Given the description of an element on the screen output the (x, y) to click on. 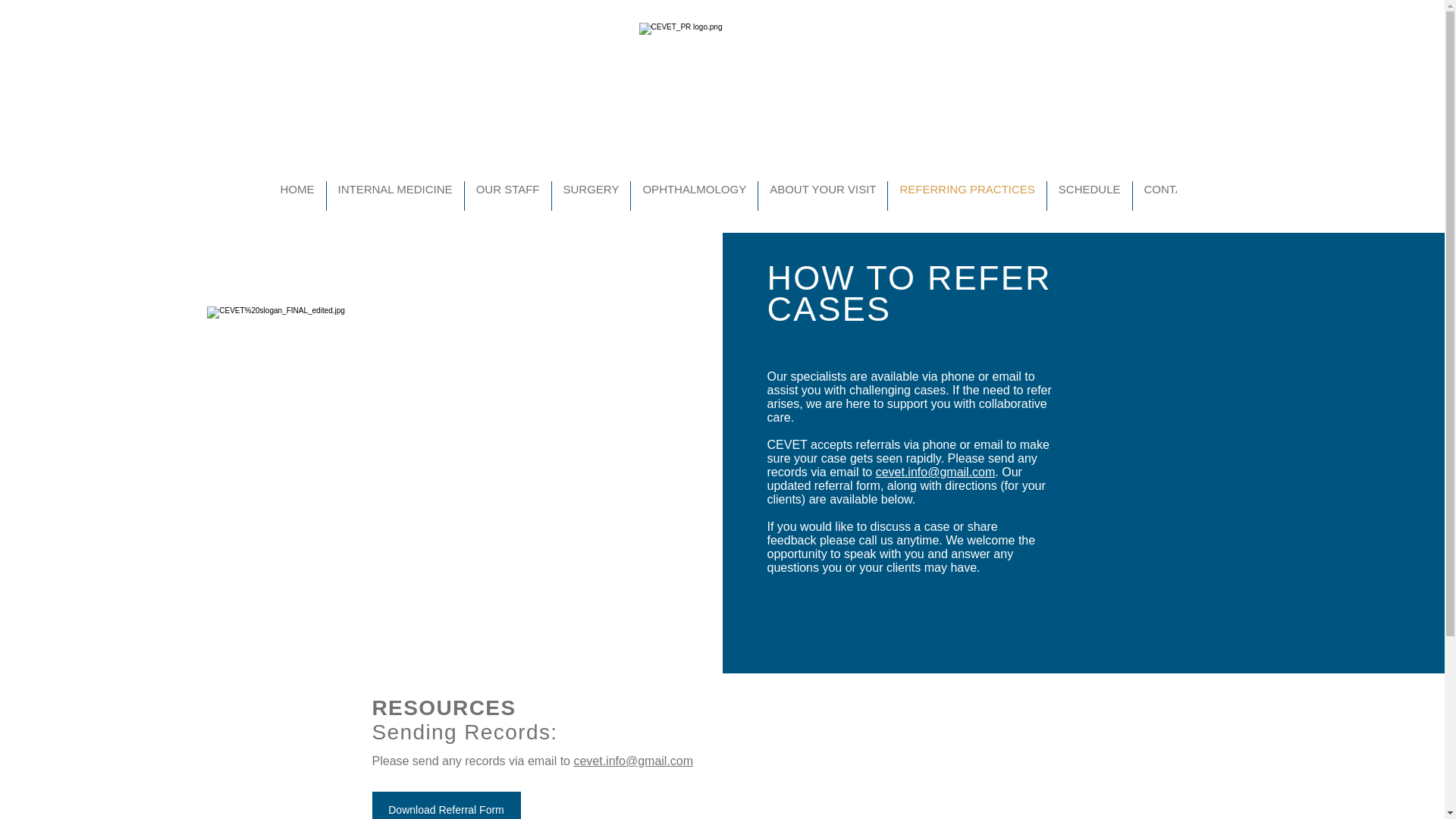
SCHEDULE (1089, 195)
ABOUT YOUR VISIT (822, 195)
INTERNAL MEDICINE (394, 195)
OUR STAFF (507, 195)
REFERRING PRACTICES (966, 195)
OPHTHALMOLOGY (693, 195)
SURGERY (590, 195)
Download Referral Form (445, 805)
HOME (295, 195)
CONTACT US (1180, 195)
